Given the description of an element on the screen output the (x, y) to click on. 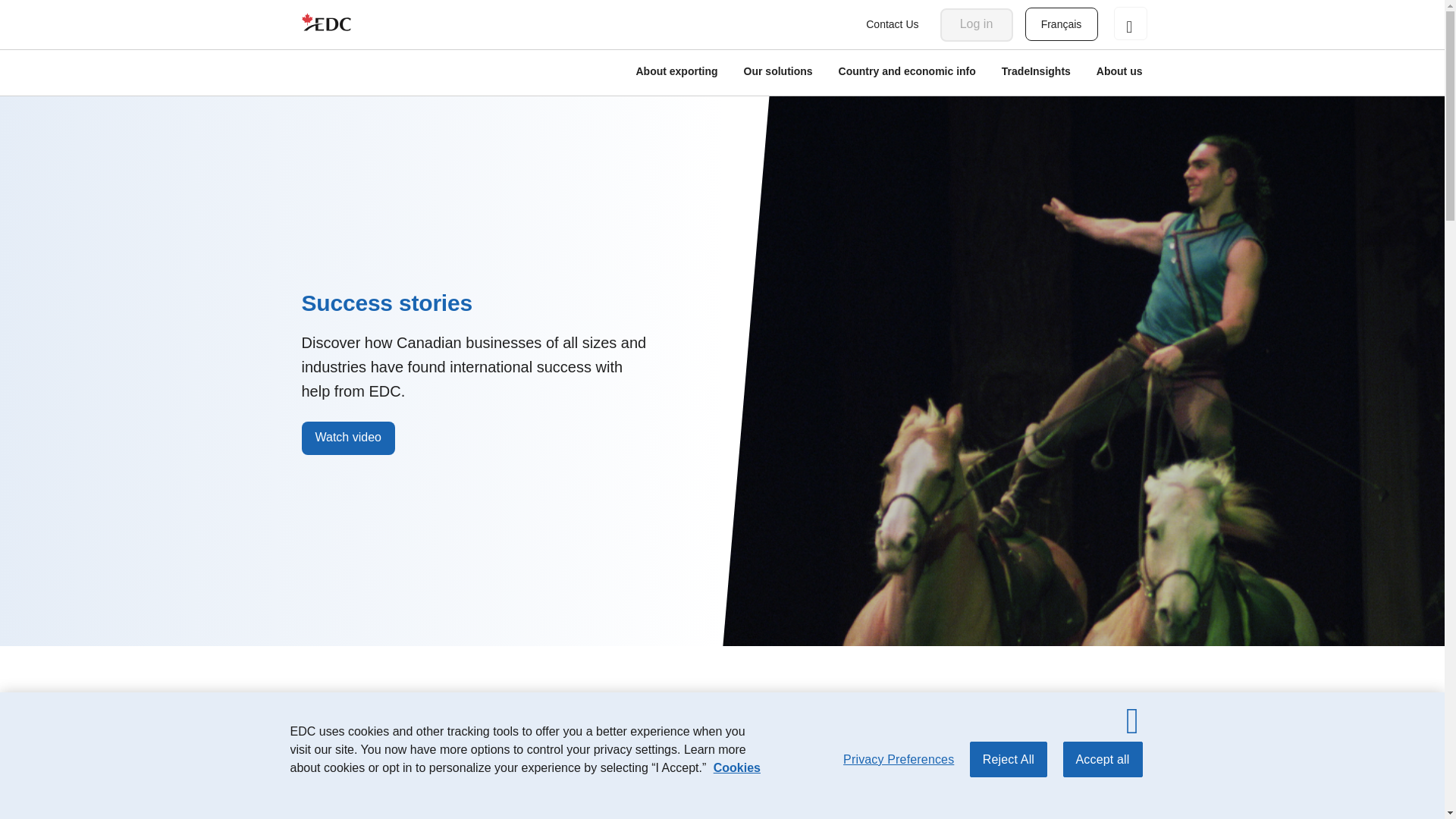
Our solutions (778, 72)
About exporting (676, 72)
Contact Us (892, 24)
Log in (976, 23)
